Given the description of an element on the screen output the (x, y) to click on. 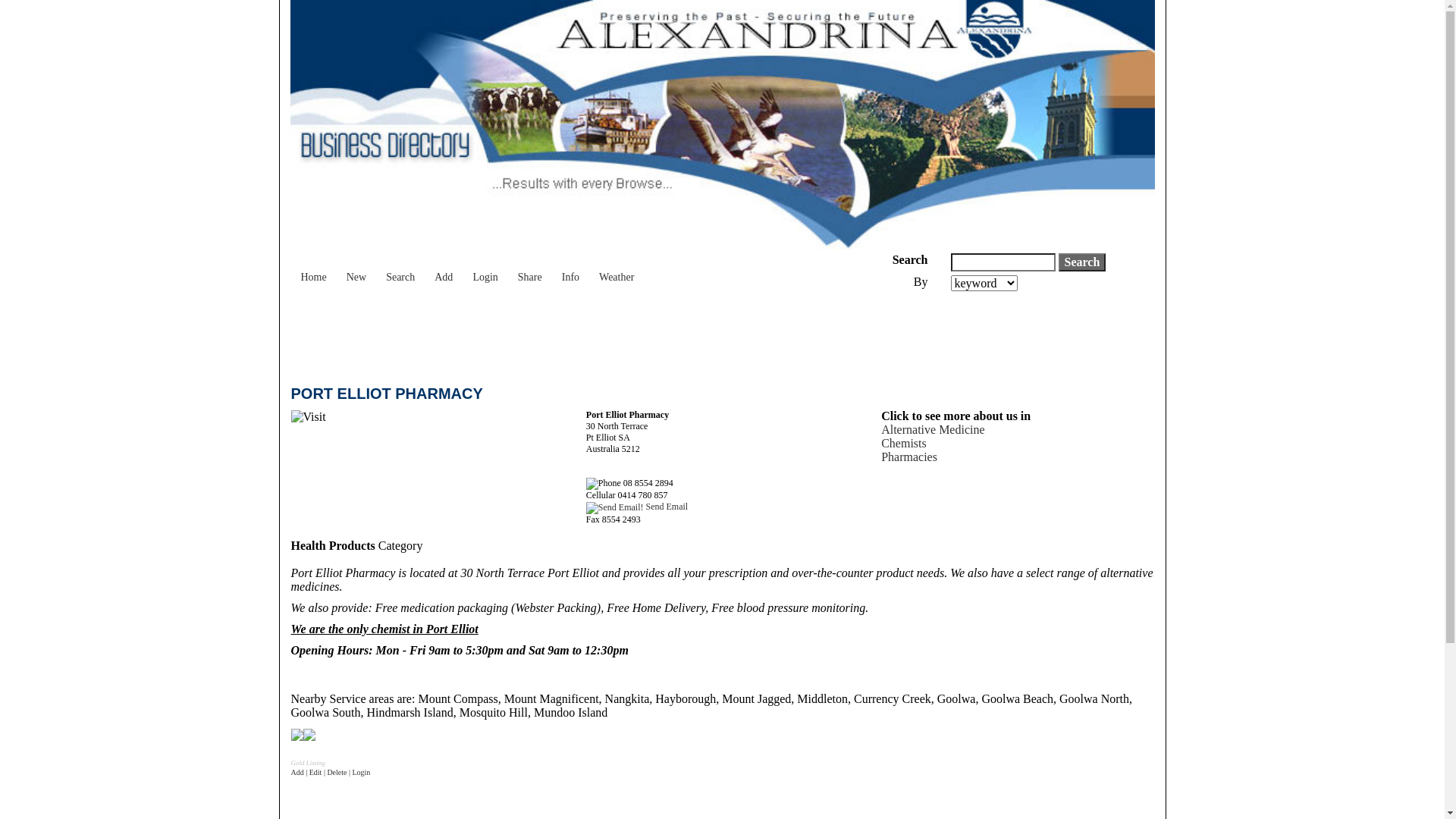
New Element type: text (356, 269)
Advertisement Element type: hover (567, 332)
Pharmacies Element type: text (909, 456)
Home Element type: text (313, 269)
Send Email Element type: text (636, 506)
Alternative Medicine Element type: text (932, 429)
Search Element type: text (400, 269)
Add Element type: text (443, 269)
Search Element type: text (1082, 262)
Login Element type: text (484, 269)
Info Element type: text (570, 269)
Weather Element type: text (616, 269)
Add | Edit | Delete | Login Element type: text (330, 772)
Share Element type: text (530, 269)
Chemists Element type: text (903, 442)
